Given the description of an element on the screen output the (x, y) to click on. 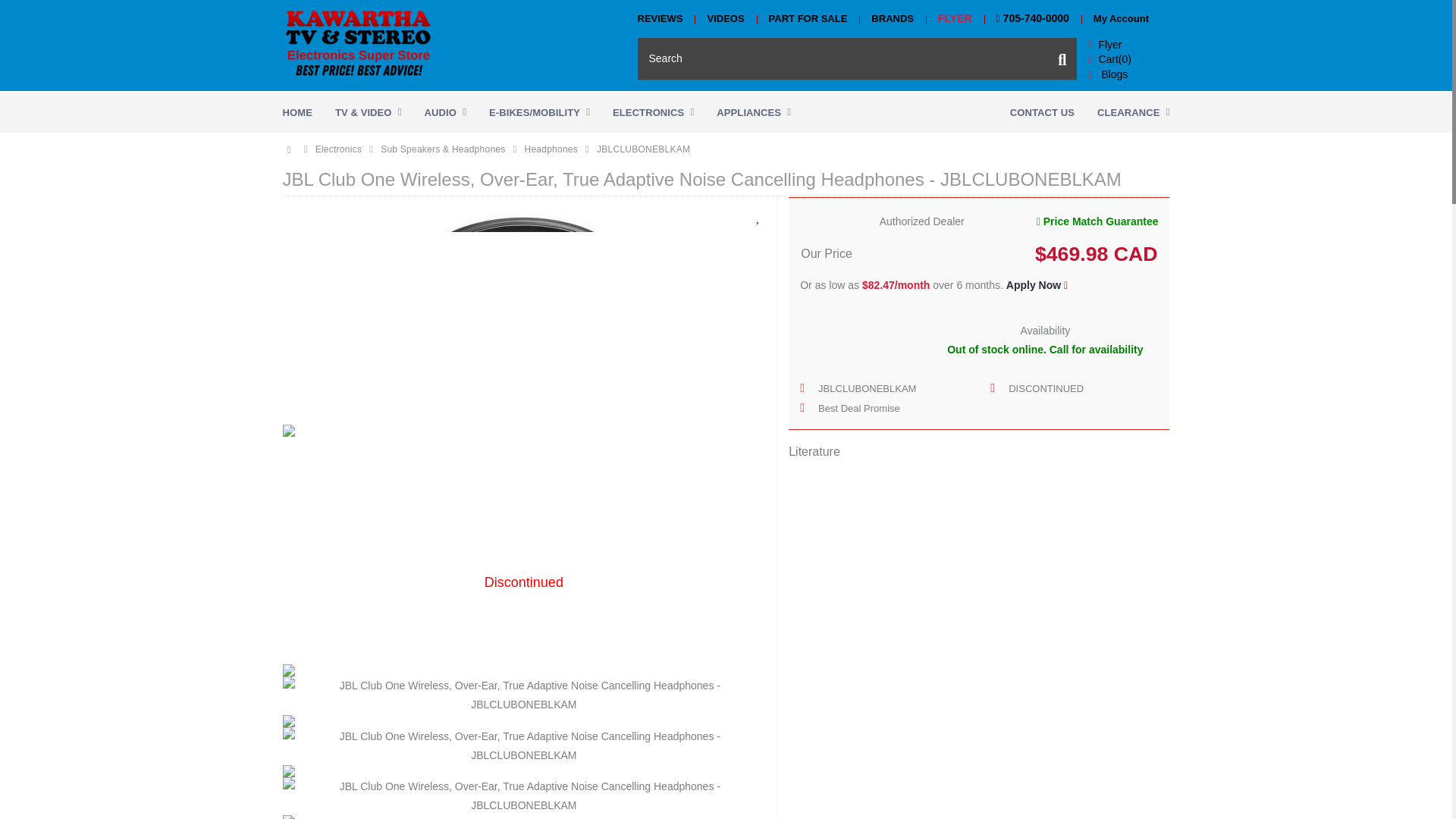
VIDEOS (724, 18)
  Blogs (1106, 73)
705-740-0000 (1032, 18)
AUDIO (445, 111)
BRANDS (892, 18)
REVIEWS (665, 18)
